Given the description of an element on the screen output the (x, y) to click on. 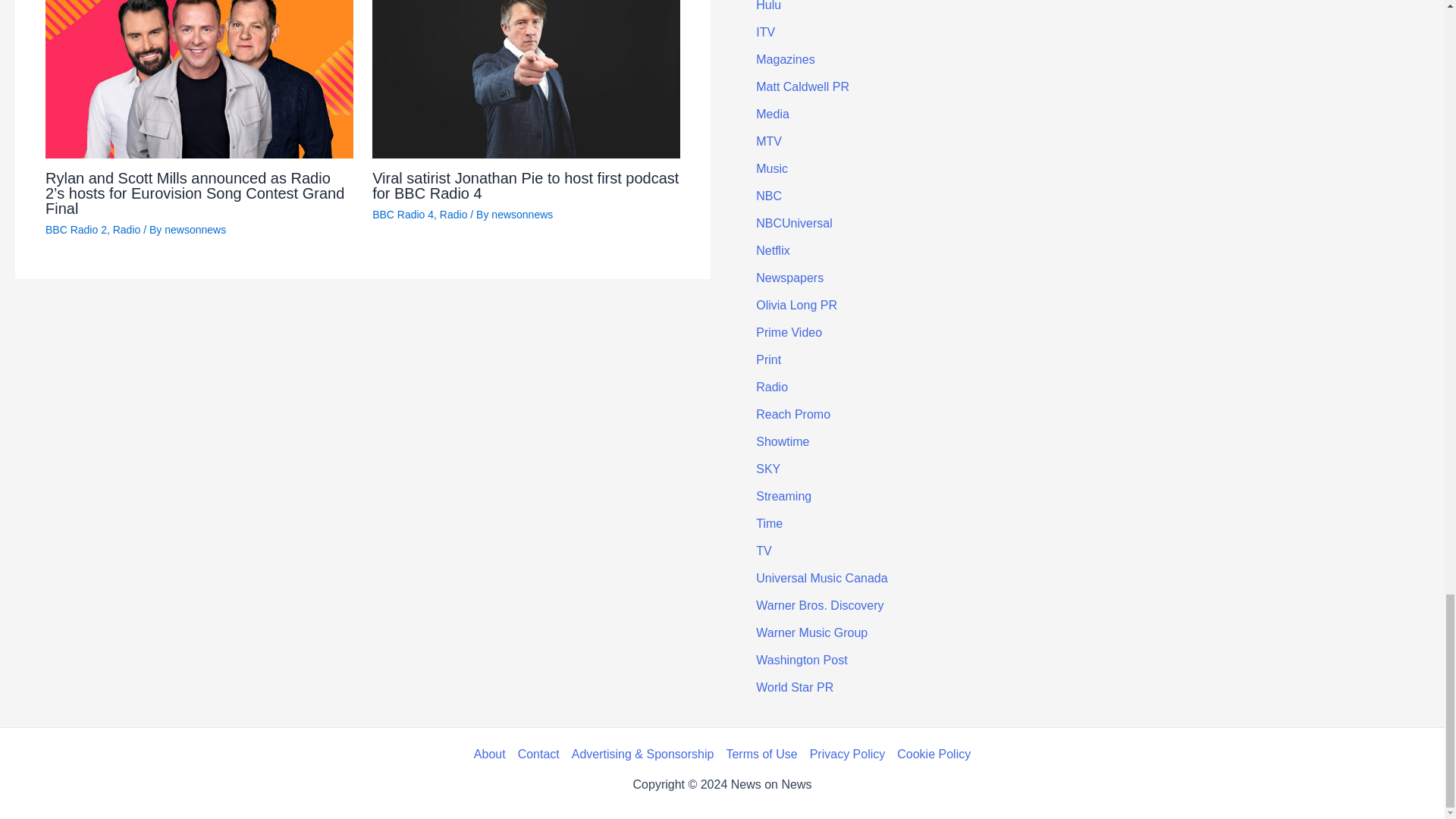
View all posts by newsonnews (194, 229)
View all posts by newsonnews (522, 214)
